Given the description of an element on the screen output the (x, y) to click on. 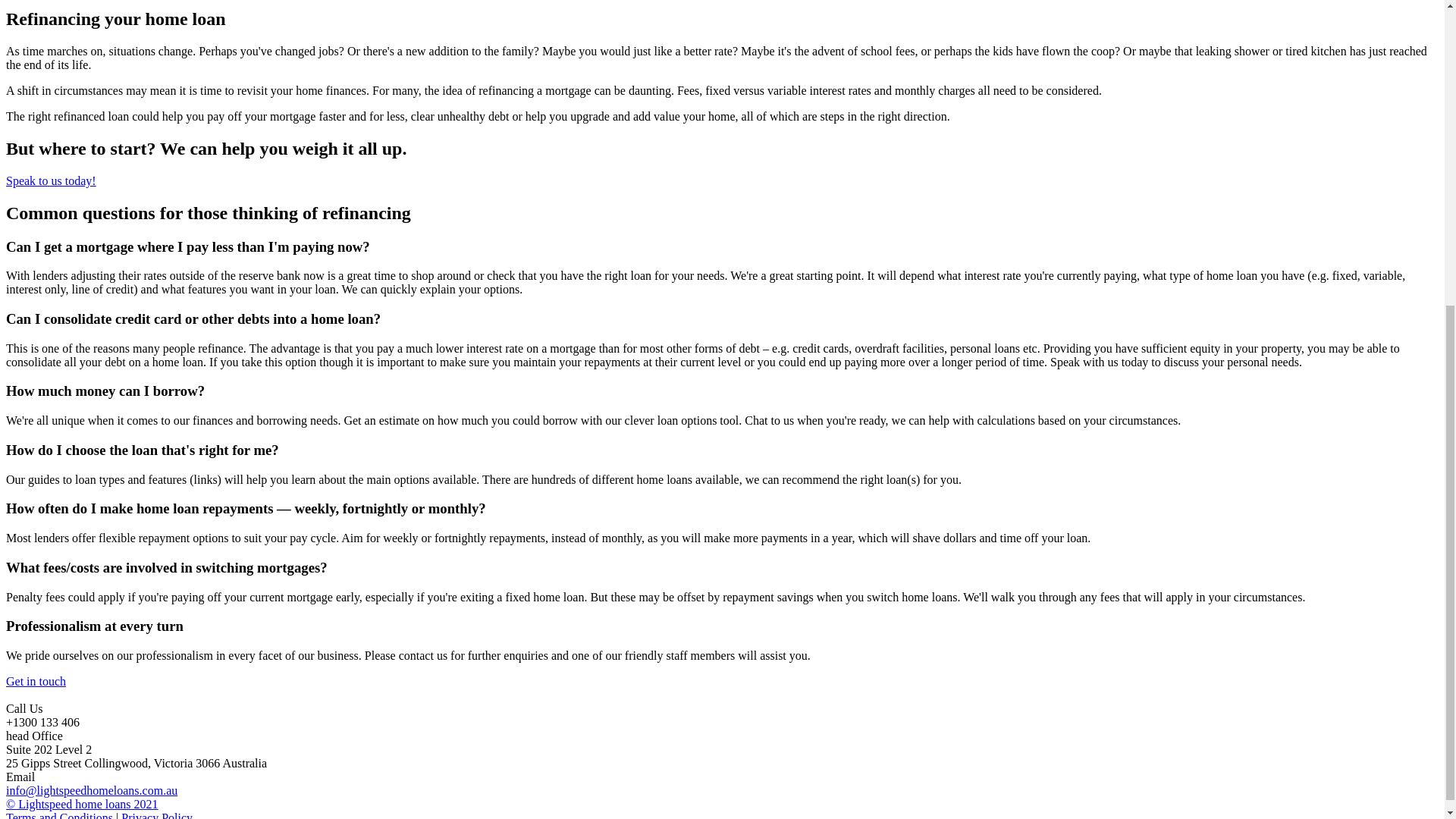
Speak to us today! (50, 180)
Get in touch (35, 680)
